Given the description of an element on the screen output the (x, y) to click on. 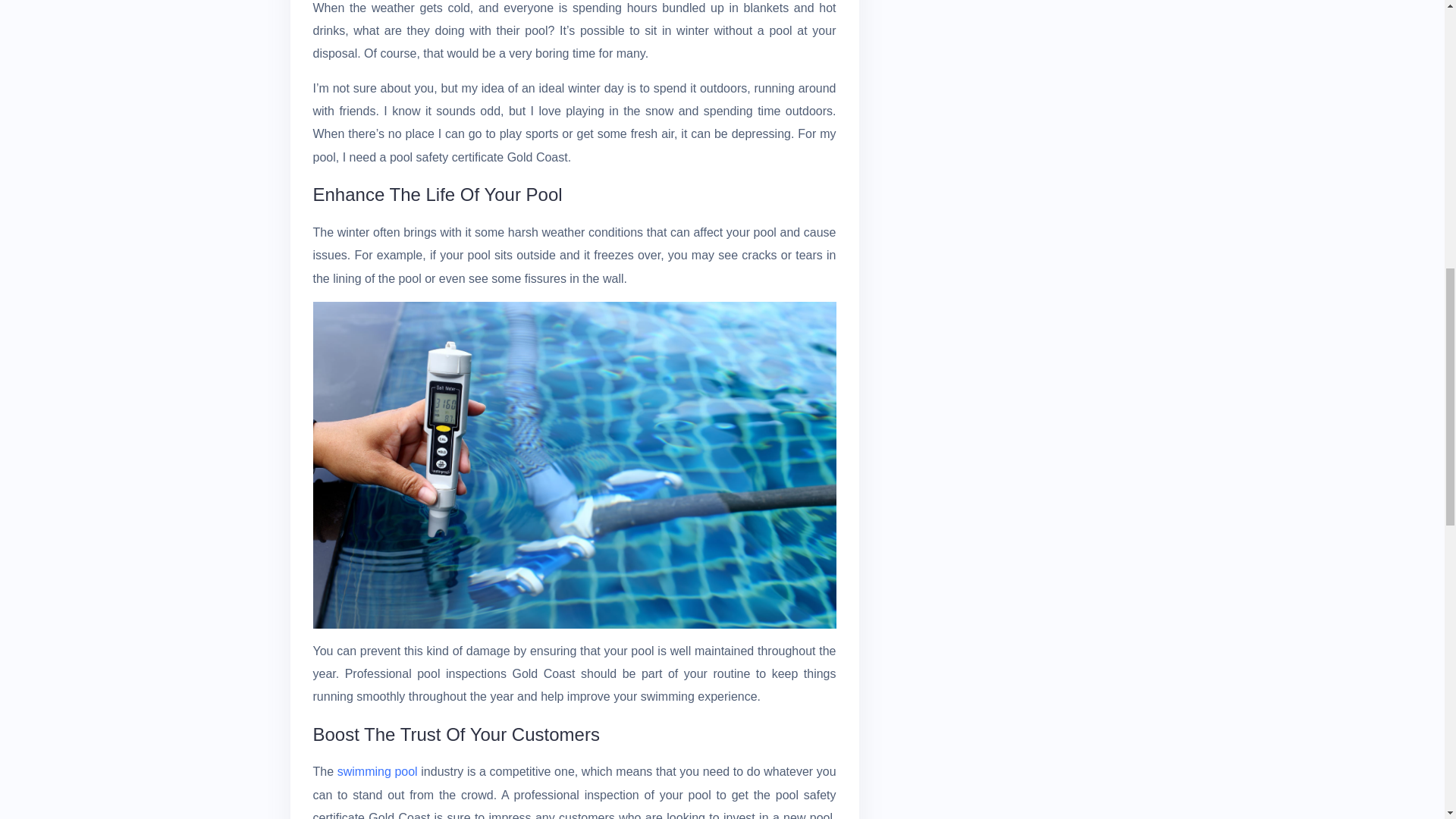
swimming pool (377, 771)
